Given the description of an element on the screen output the (x, y) to click on. 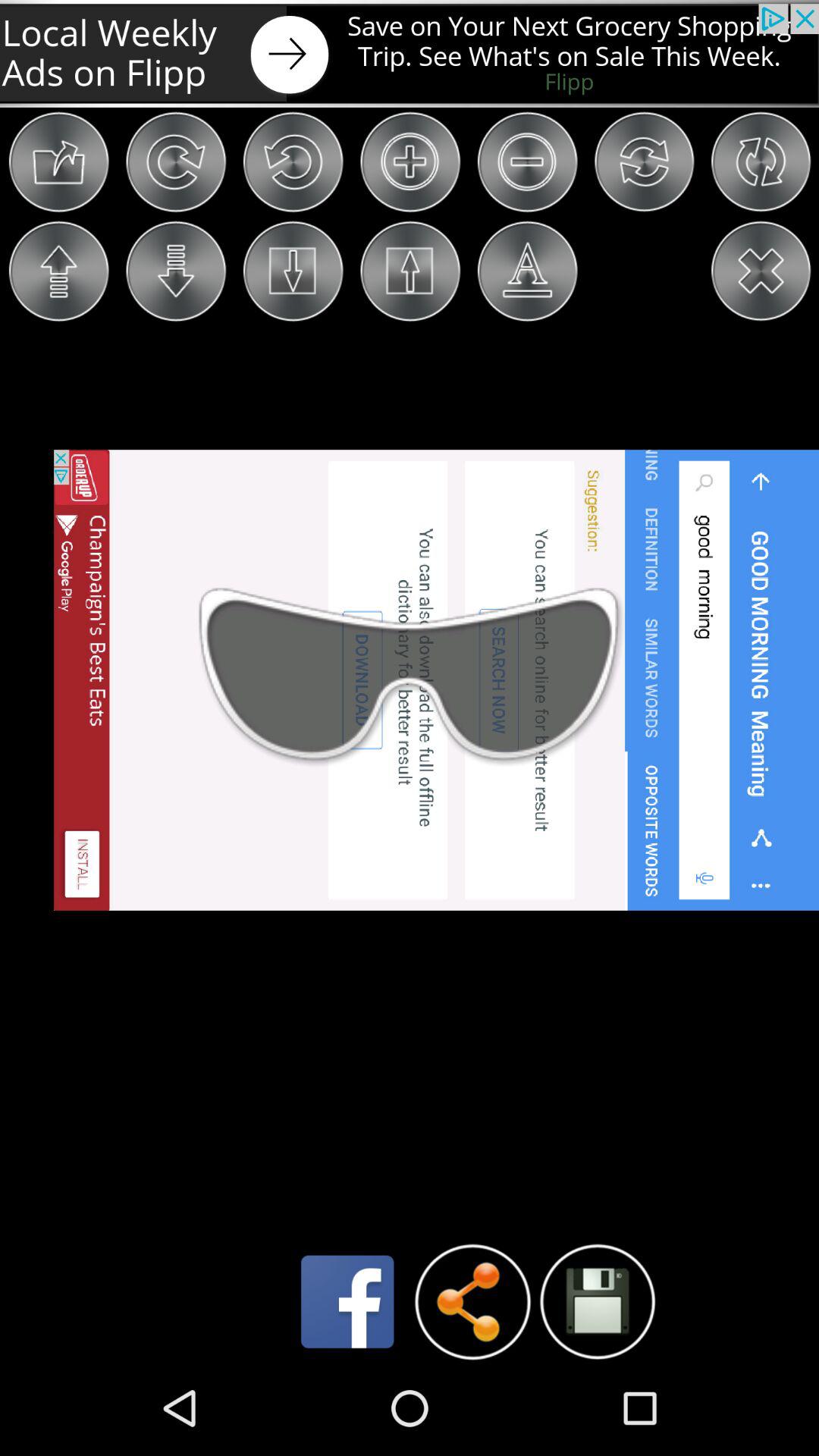
auto play the music (597, 1301)
